Given the description of an element on the screen output the (x, y) to click on. 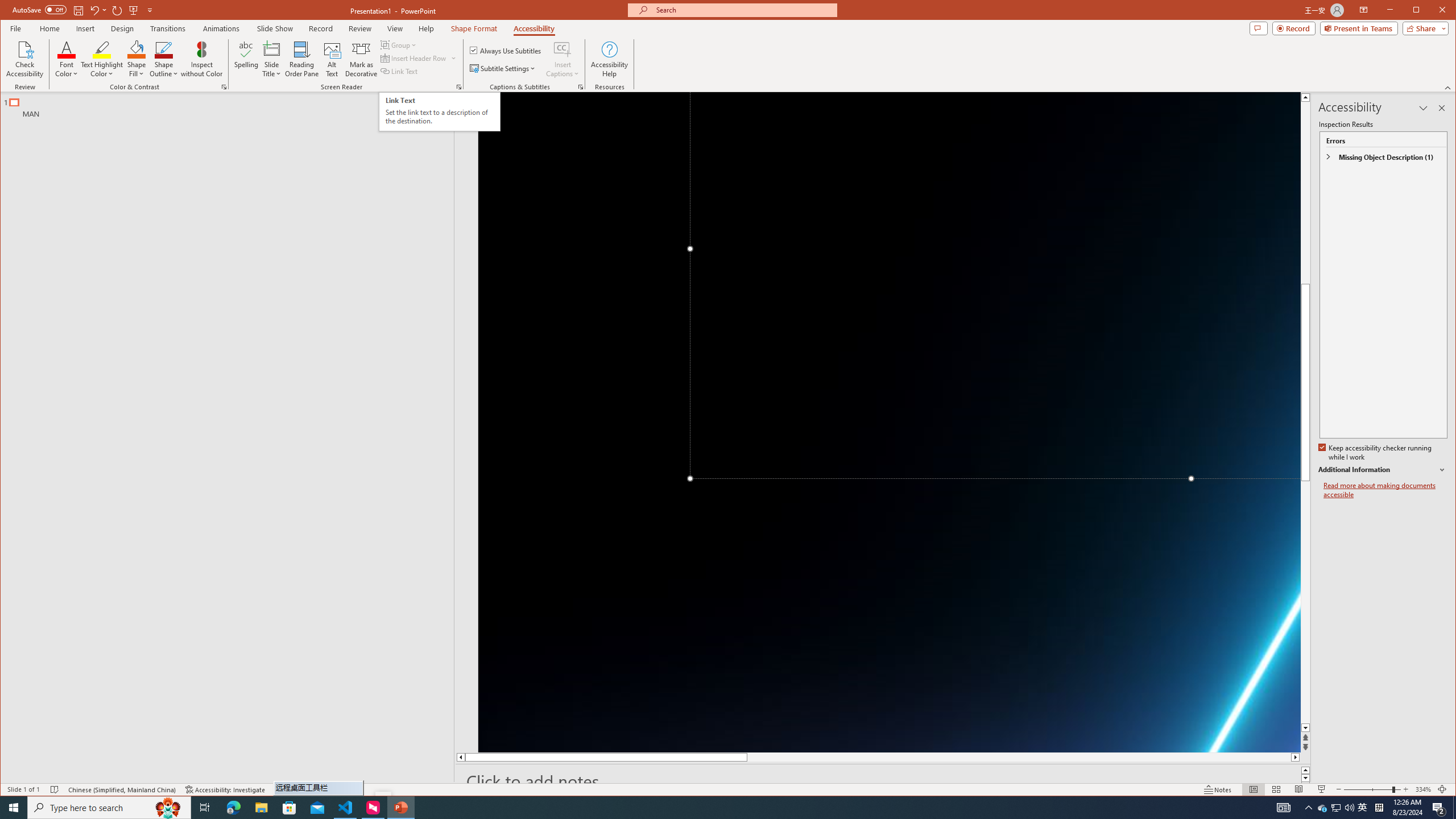
Accessibility Help (608, 59)
